Given the description of an element on the screen output the (x, y) to click on. 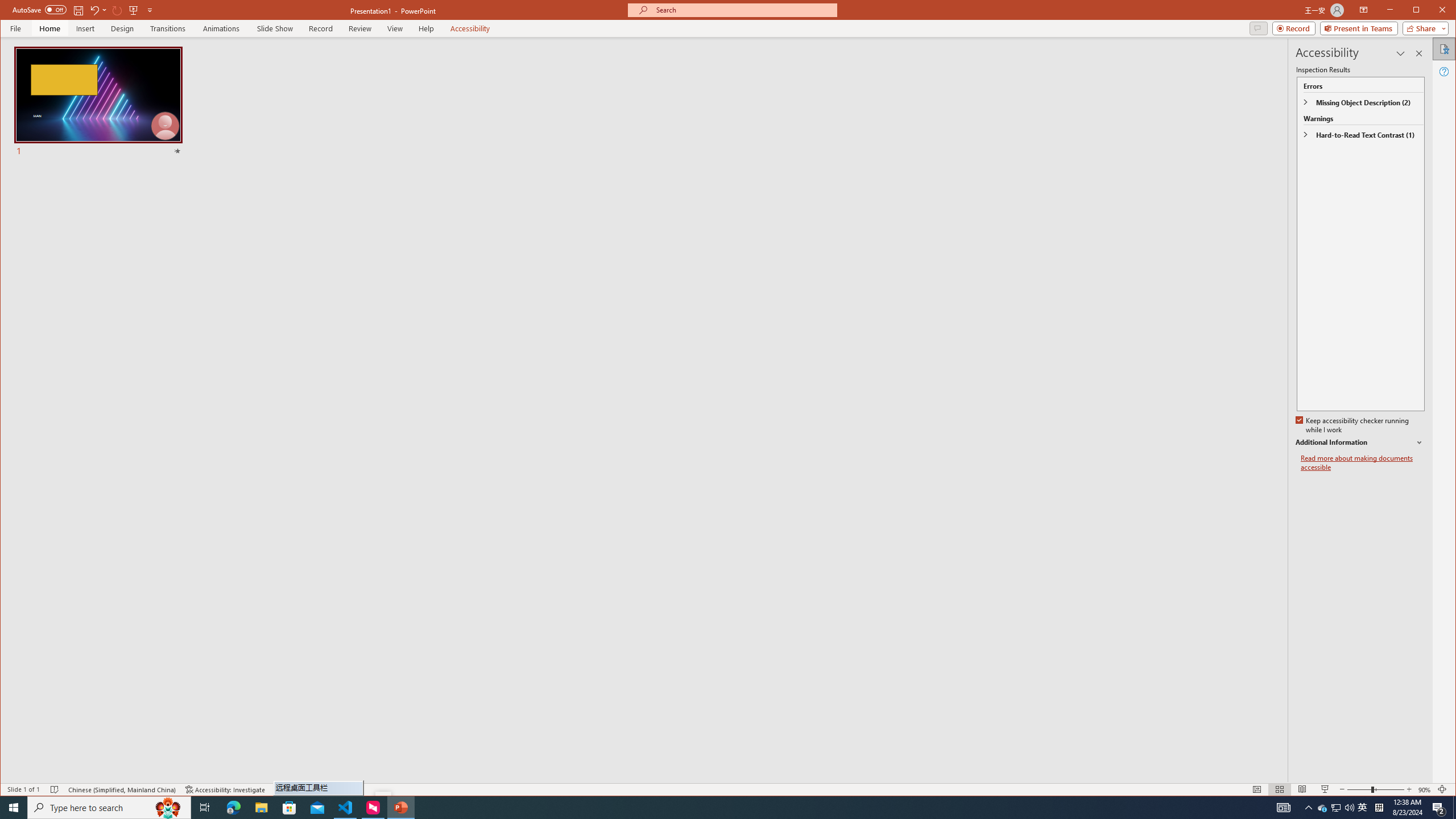
Read more about making documents accessible (1362, 462)
Zoom 90% (1424, 789)
